Given the description of an element on the screen output the (x, y) to click on. 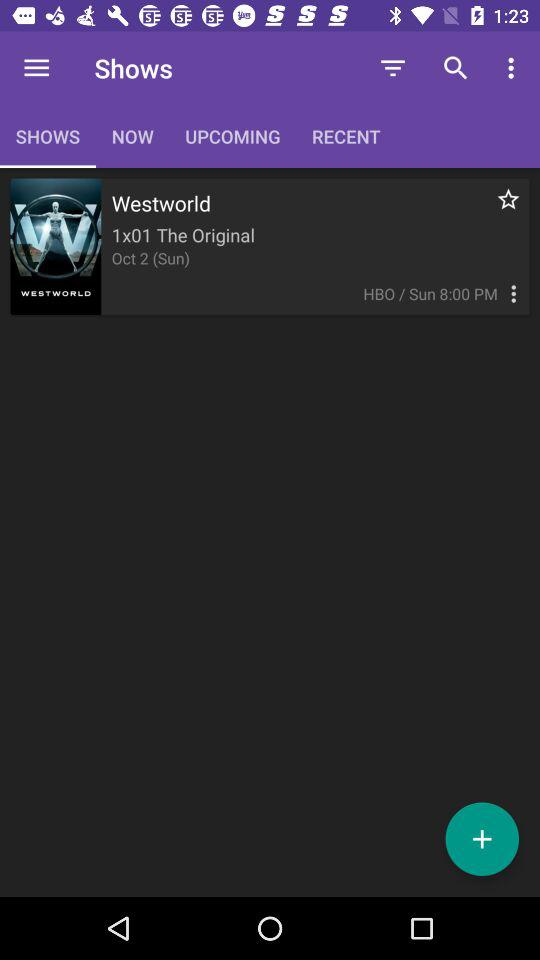
click icon next to upcoming icon (392, 67)
